Given the description of an element on the screen output the (x, y) to click on. 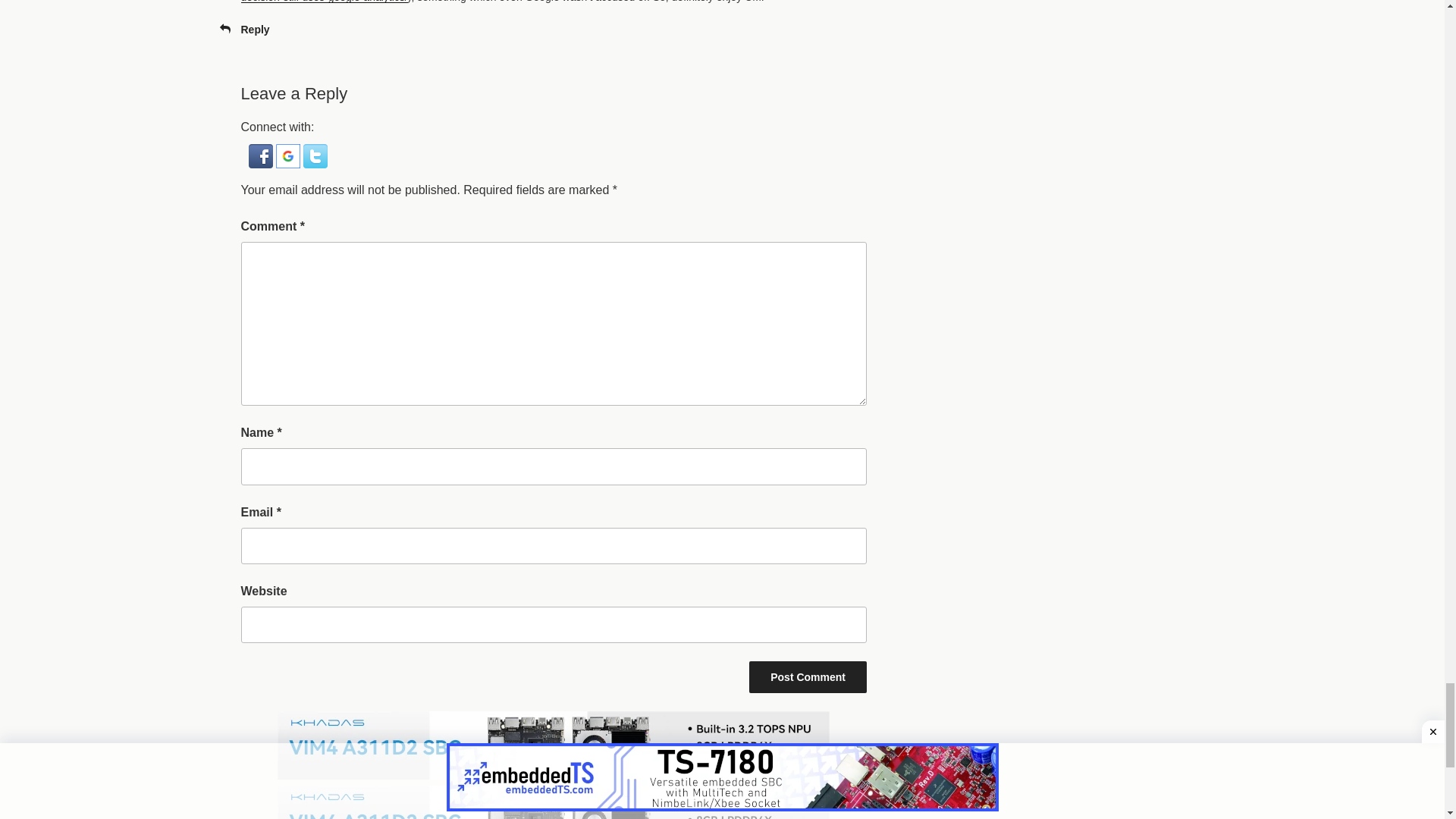
Post Comment (807, 676)
